Given the description of an element on the screen output the (x, y) to click on. 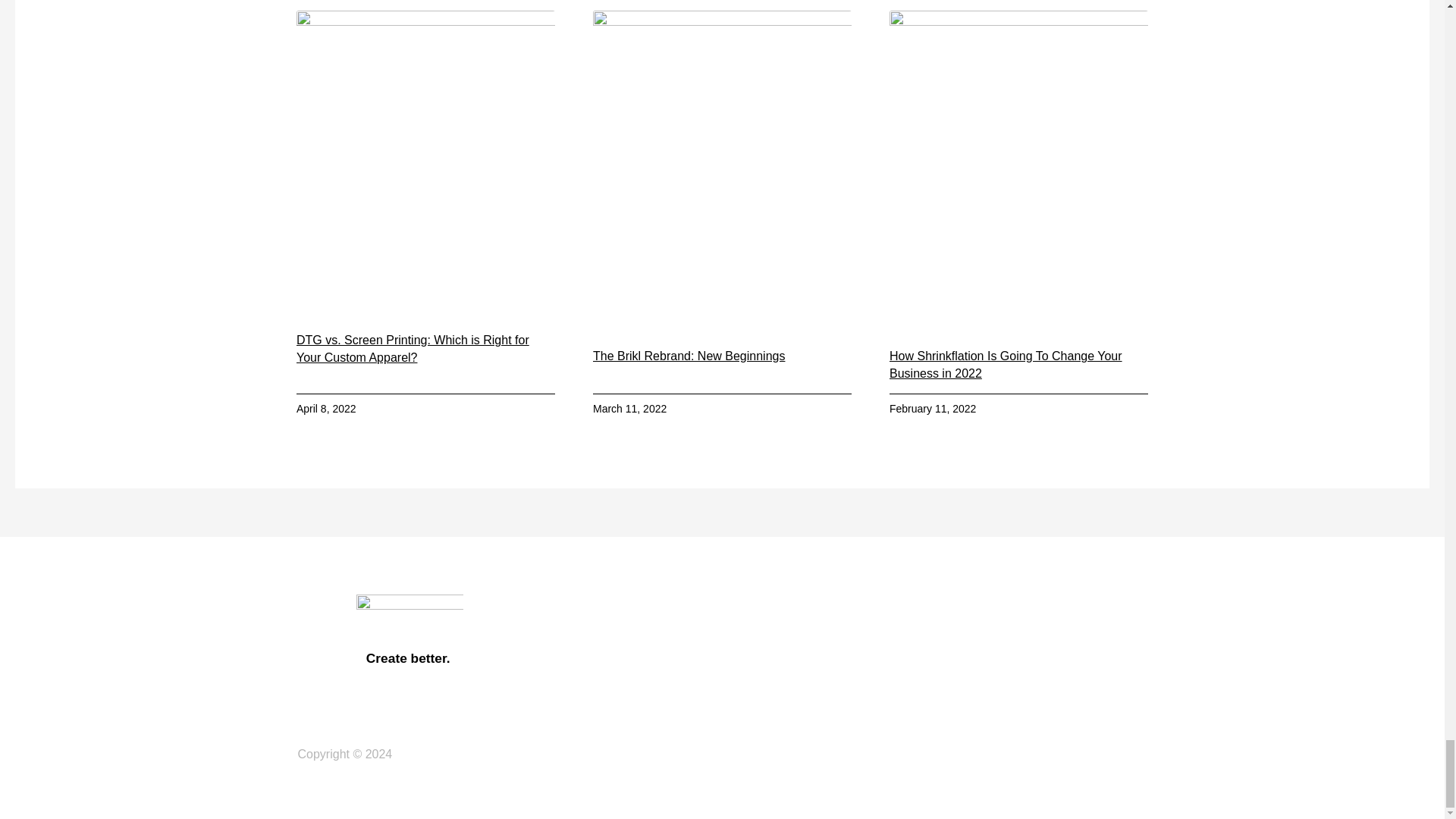
How Shrinkflation Is Going To Change Your Business in 2022 (1005, 364)
The Brikl Rebrand: New Beginnings (688, 355)
